Given the description of an element on the screen output the (x, y) to click on. 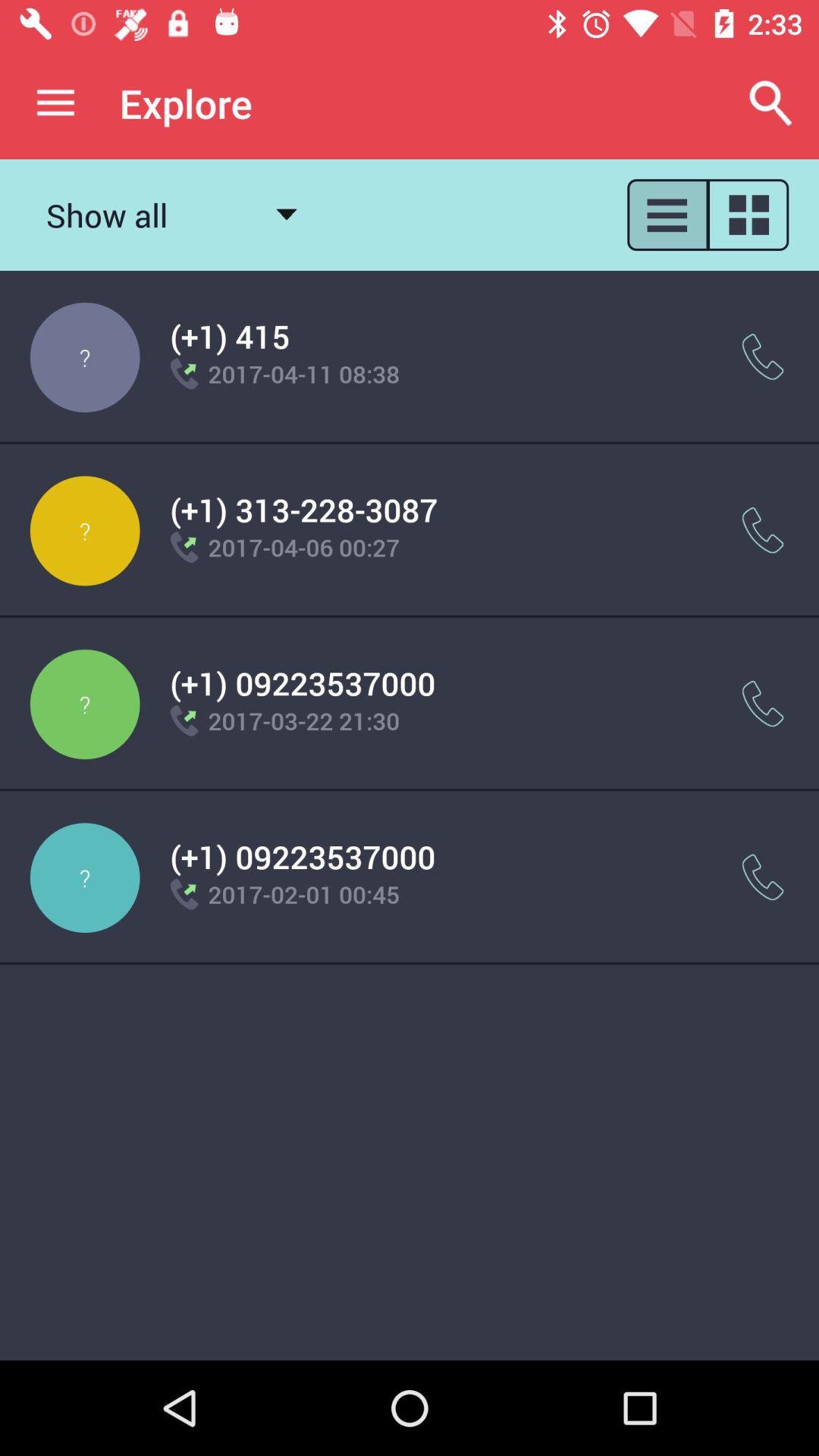
change call log to list view (666, 214)
